Given the description of an element on the screen output the (x, y) to click on. 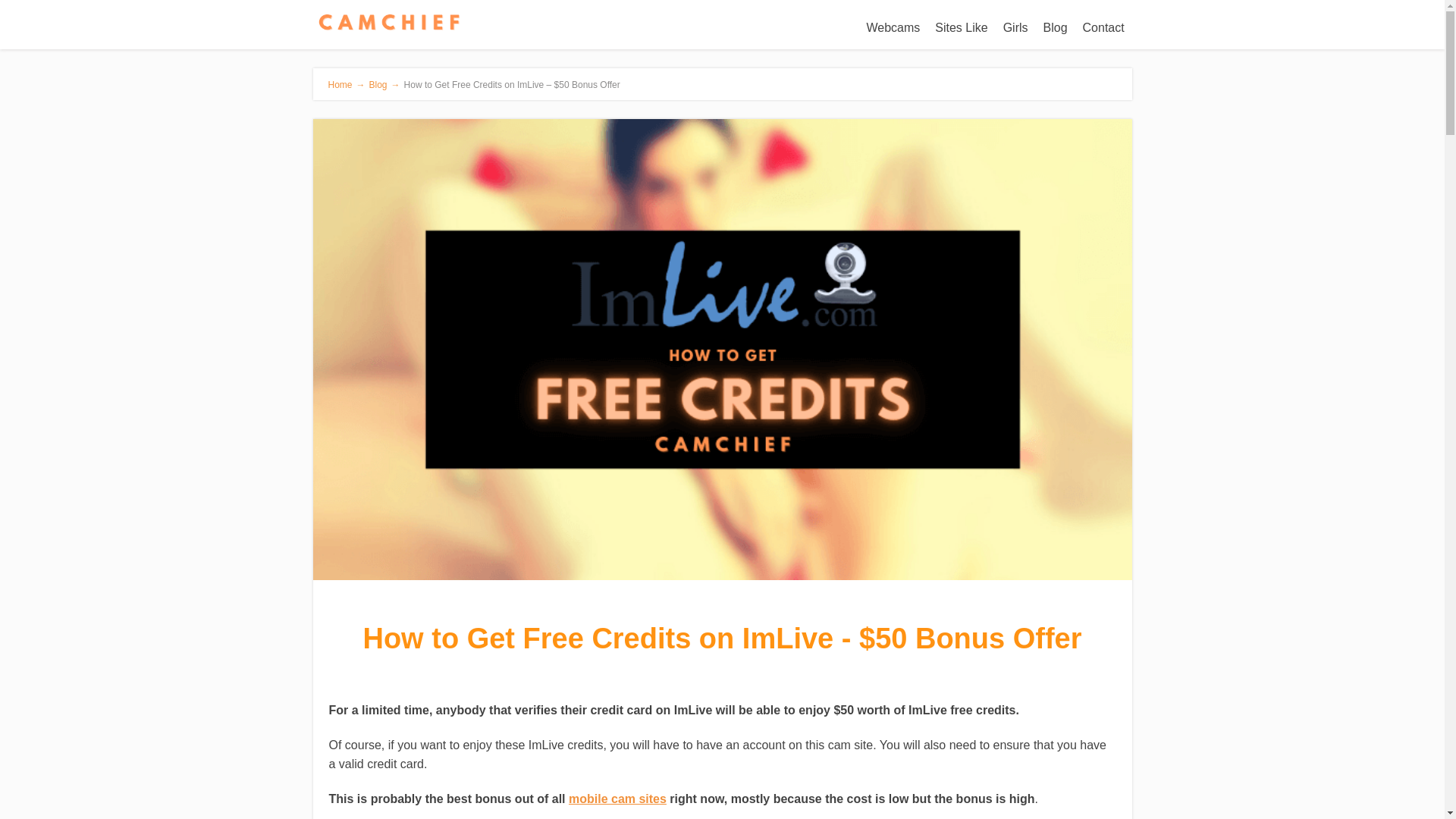
Webcams (893, 27)
Contact (1103, 27)
Blog (1055, 27)
mobile cam sites (617, 798)
Sites Like (960, 27)
Girls (1015, 27)
